Given the description of an element on the screen output the (x, y) to click on. 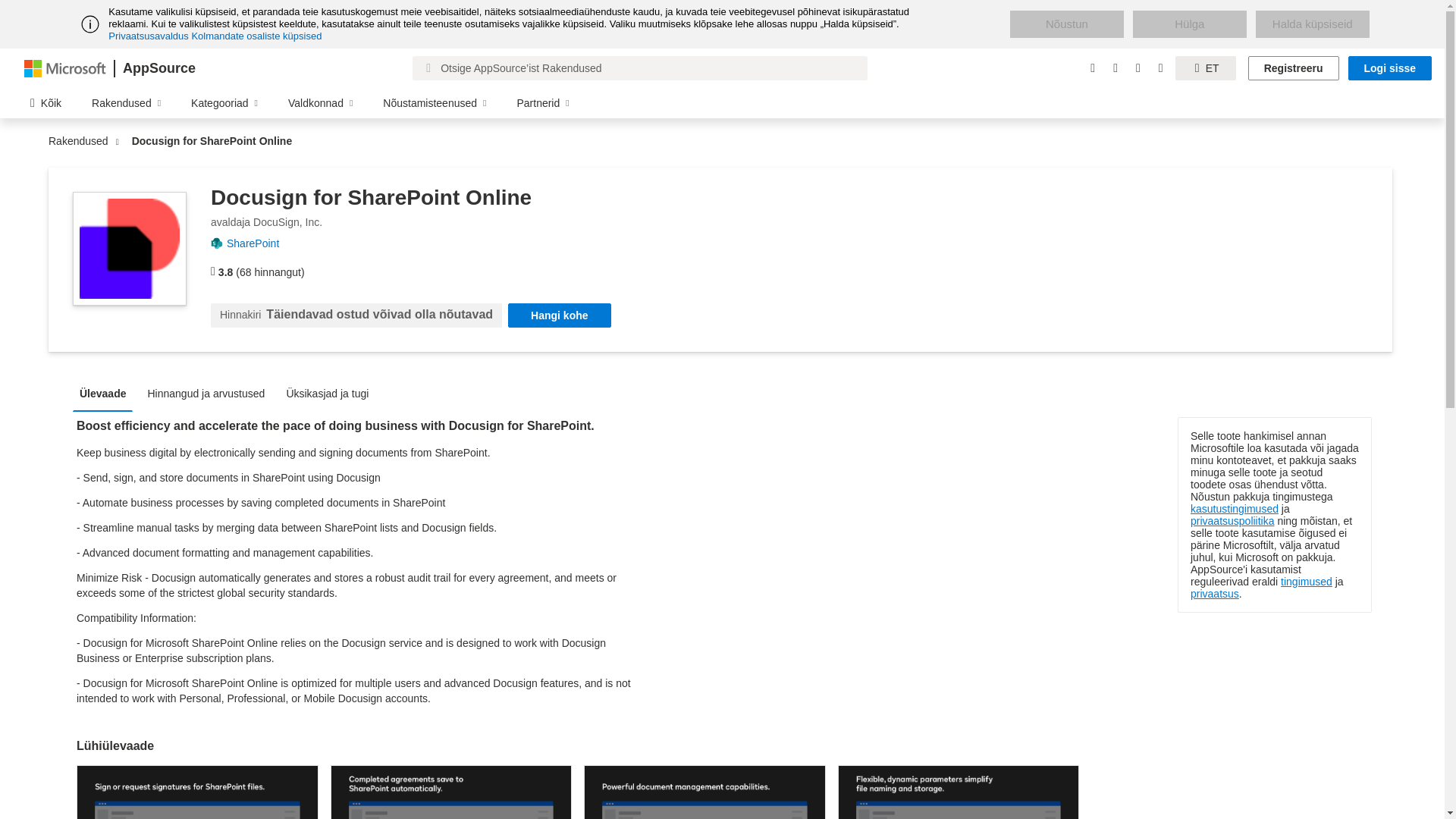
AppSource (158, 67)
SharePoint (258, 243)
tingimused (1306, 581)
privaatsuspoliitika (1233, 521)
Registreeru (1293, 68)
kasutustingimused (1234, 508)
privaatsus (1215, 593)
Hangi kohe (559, 315)
Microsoft (65, 67)
Privaatsusavaldus (148, 35)
Logi sisse (1389, 68)
Hinnangud ja arvustused (209, 392)
SharePoint (258, 243)
Rakendused (82, 141)
hinnangut (213, 271)
